Given the description of an element on the screen output the (x, y) to click on. 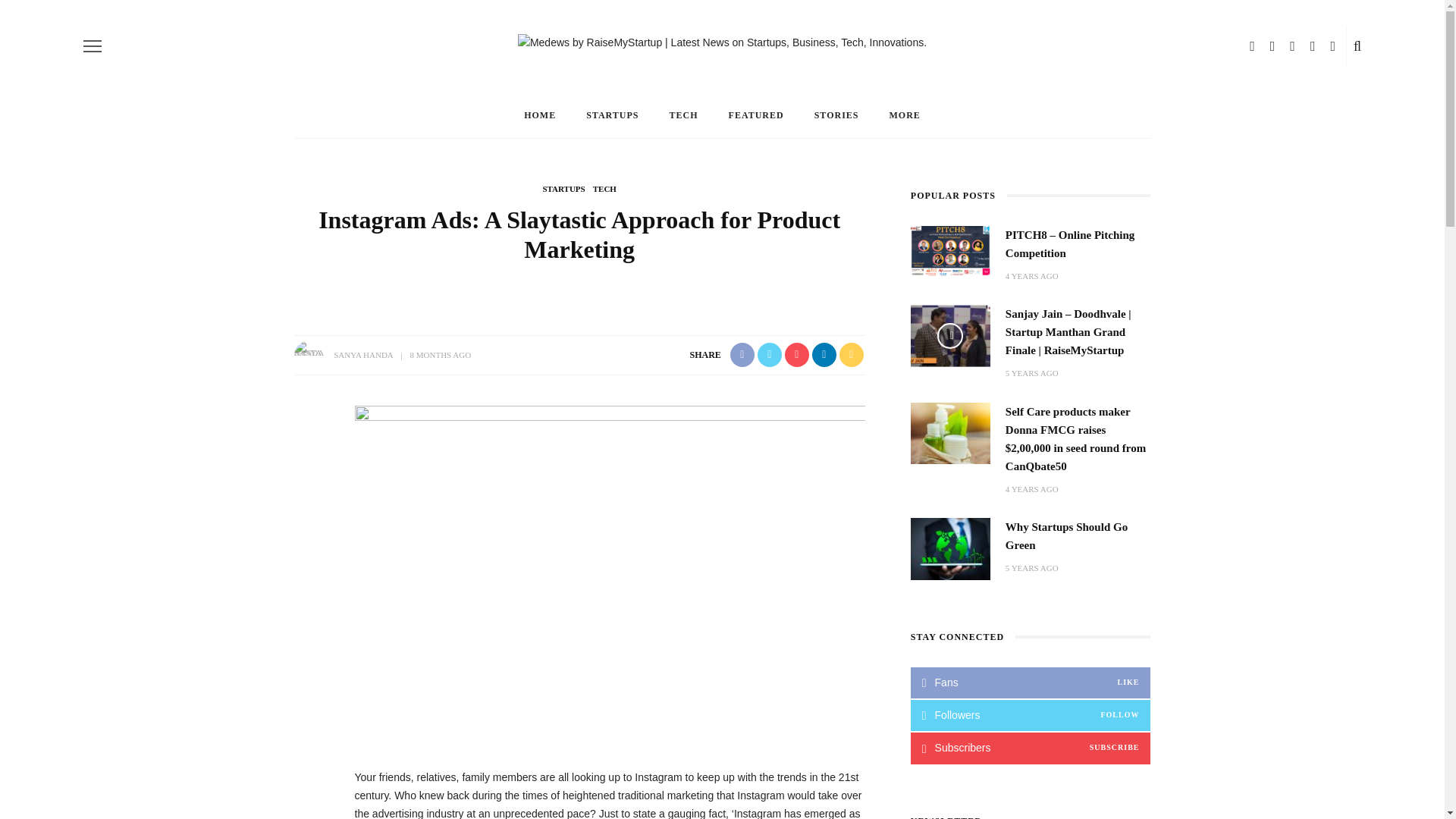
off canvas button (91, 45)
TECH (683, 115)
STORIES (837, 115)
HOME (539, 115)
STARTUPS (611, 115)
Search for: (1071, 12)
post by Sanya Handa (363, 354)
MORE (903, 115)
FEATURED (756, 115)
